Given the description of an element on the screen output the (x, y) to click on. 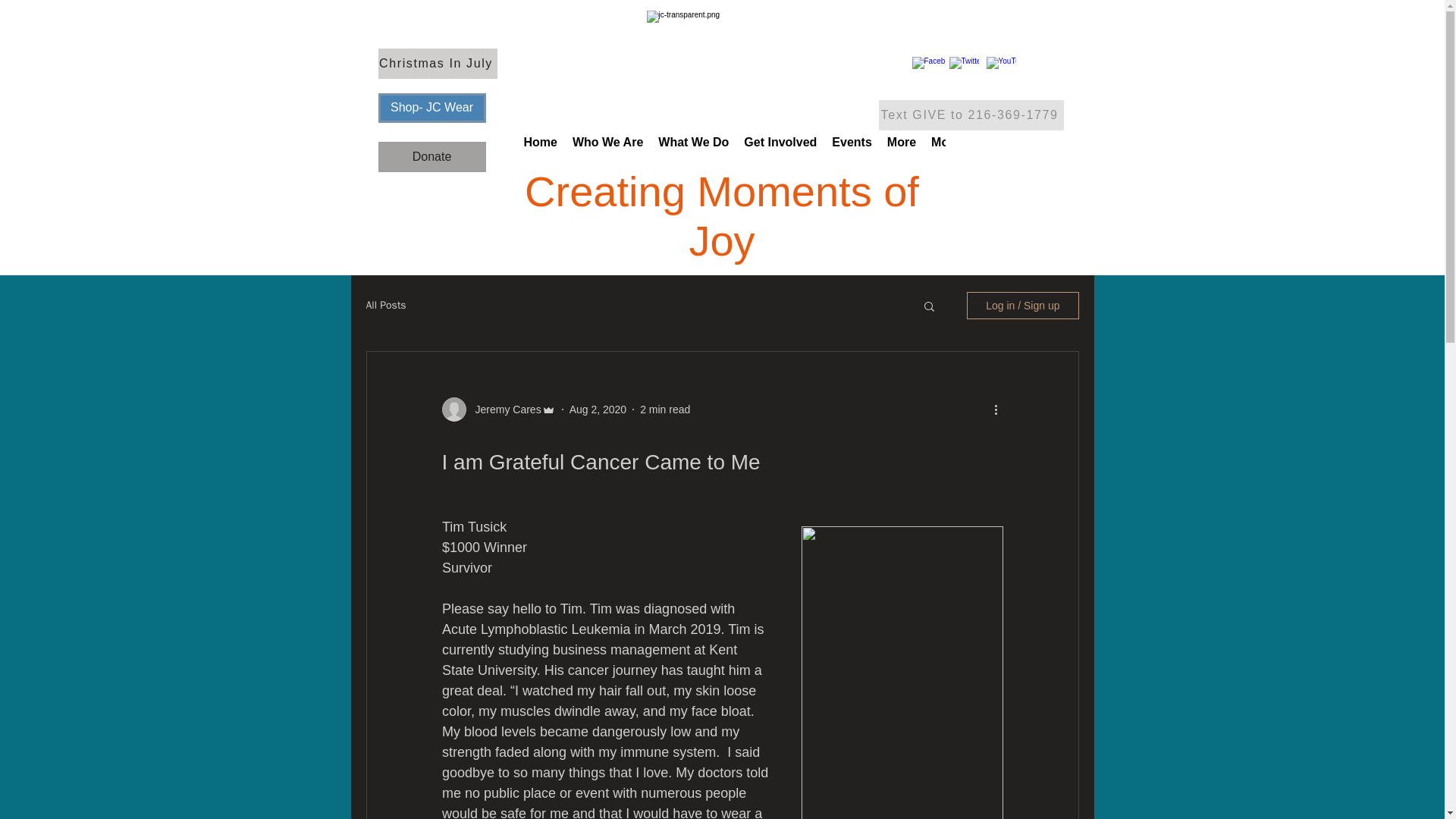
Home (539, 152)
What We Do (693, 152)
Jeremy Cares (502, 409)
Events (851, 152)
Who We Are (607, 152)
Christmas In July (436, 63)
Text GIVE to 216-369-1779 (969, 114)
More (901, 152)
Aug 2, 2020 (598, 409)
All Posts (385, 305)
